Given the description of an element on the screen output the (x, y) to click on. 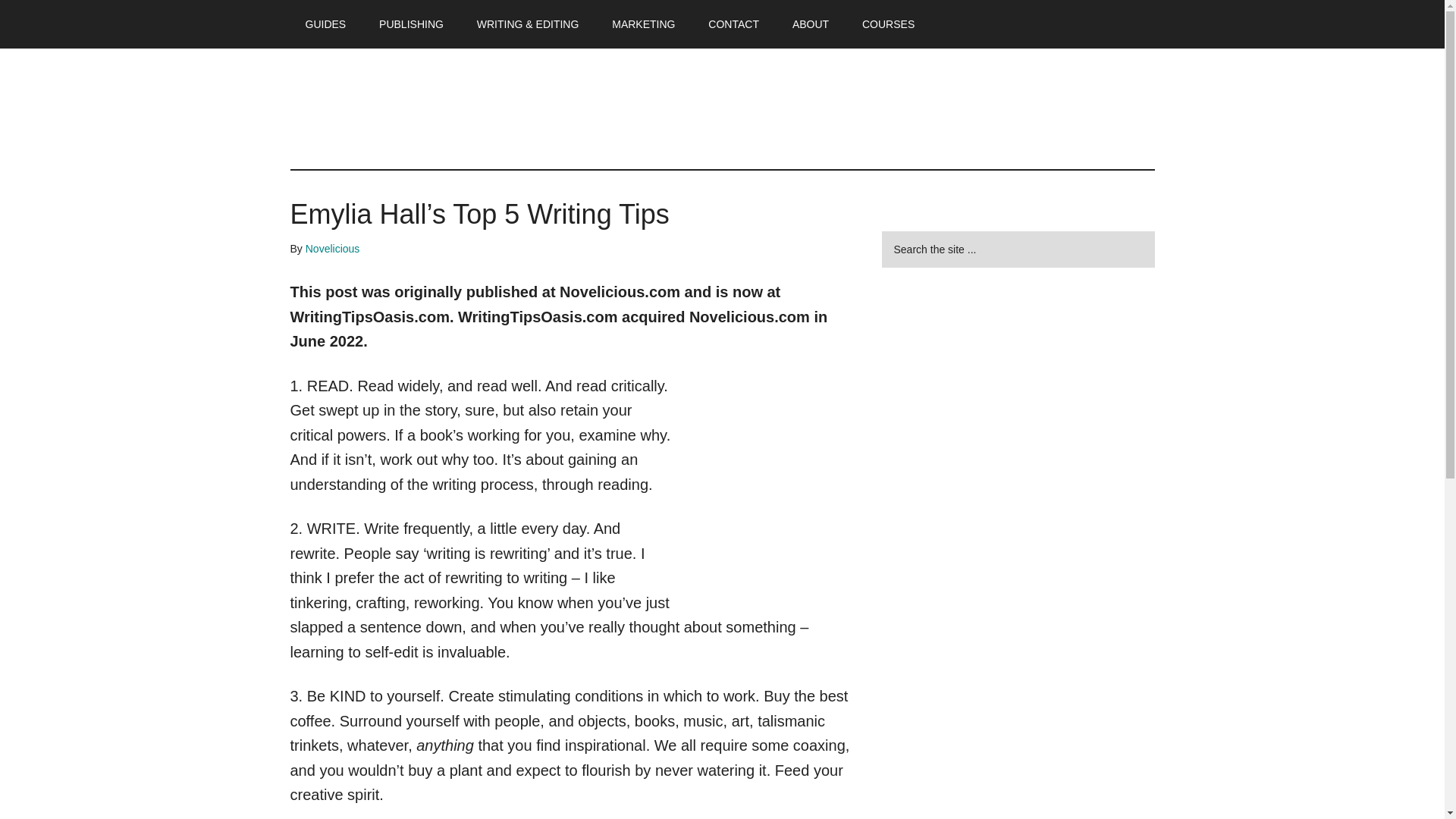
COURSES (888, 24)
GUIDES (325, 24)
MARKETING (643, 24)
ABOUT (810, 24)
PUBLISHING (411, 24)
Novelicious (332, 248)
CONTACT (733, 24)
